Given the description of an element on the screen output the (x, y) to click on. 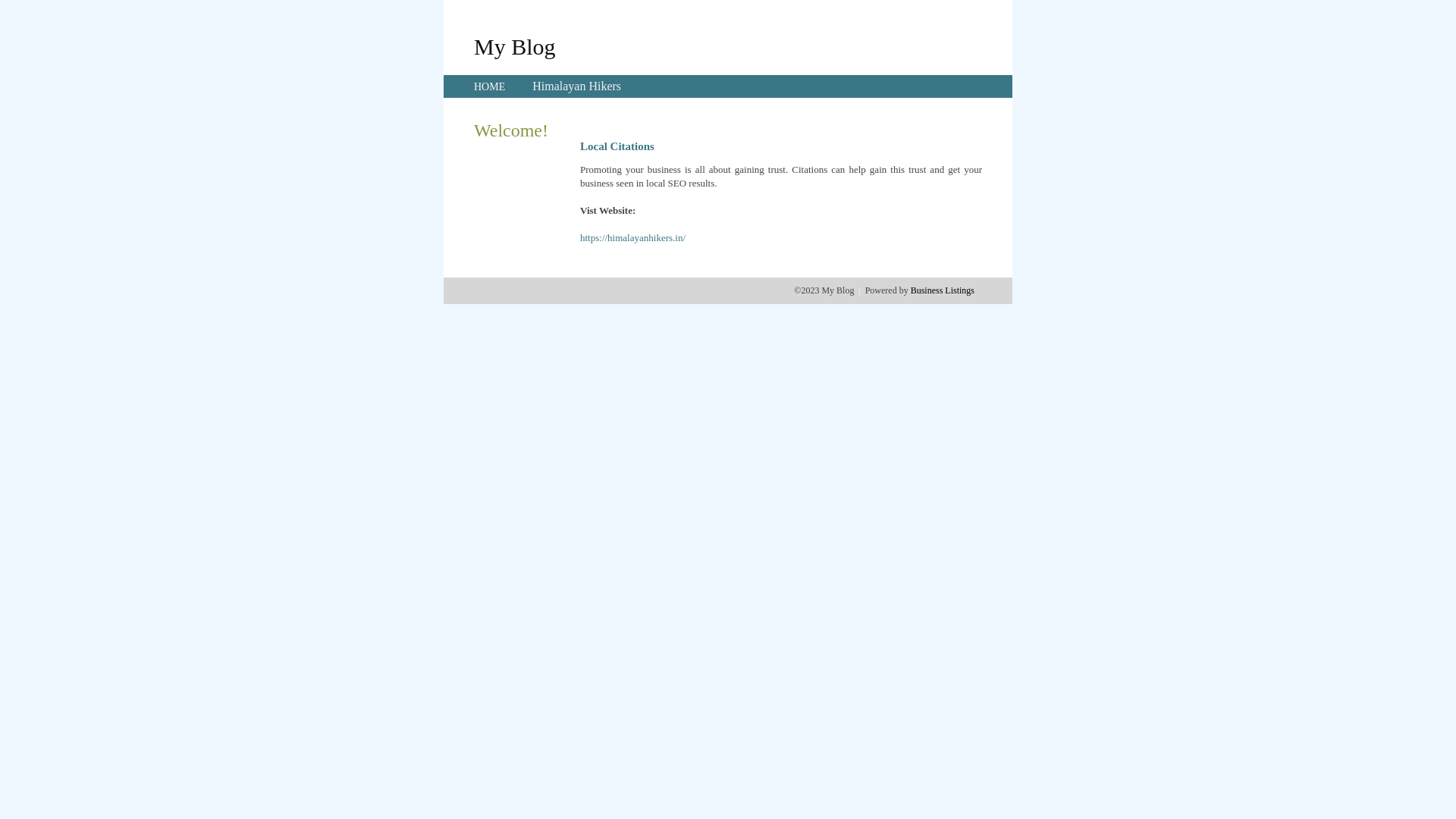
Himalayan Hikers Element type: text (576, 85)
https://himalayanhikers.in/ Element type: text (632, 237)
Business Listings Element type: text (942, 290)
HOME Element type: text (489, 86)
My Blog Element type: text (514, 46)
